Given the description of an element on the screen output the (x, y) to click on. 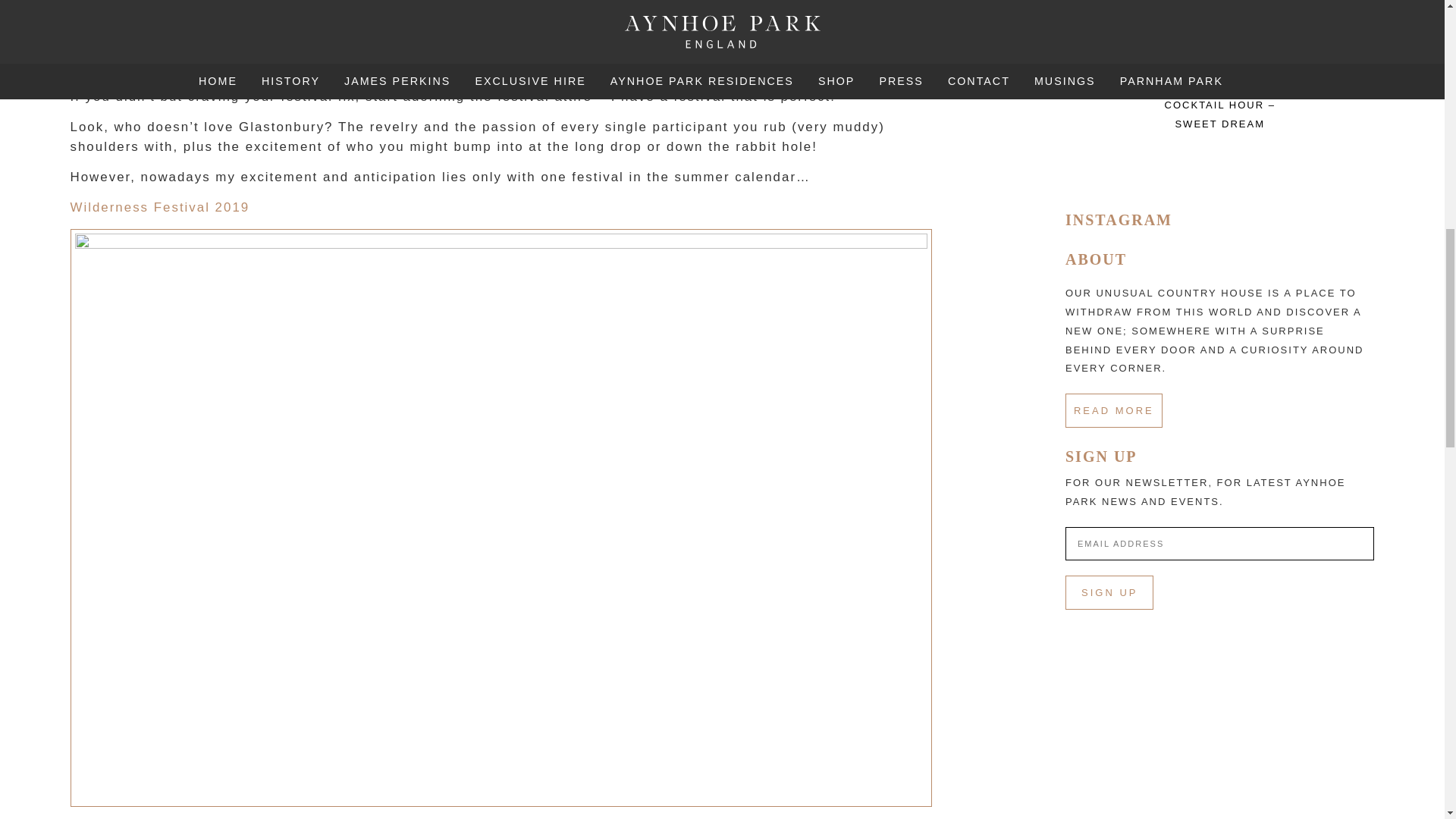
Wilderness Festival 2019 (158, 206)
READ MORE (1113, 410)
SIGN UP (1109, 592)
Glastonbury (355, 65)
